Given the description of an element on the screen output the (x, y) to click on. 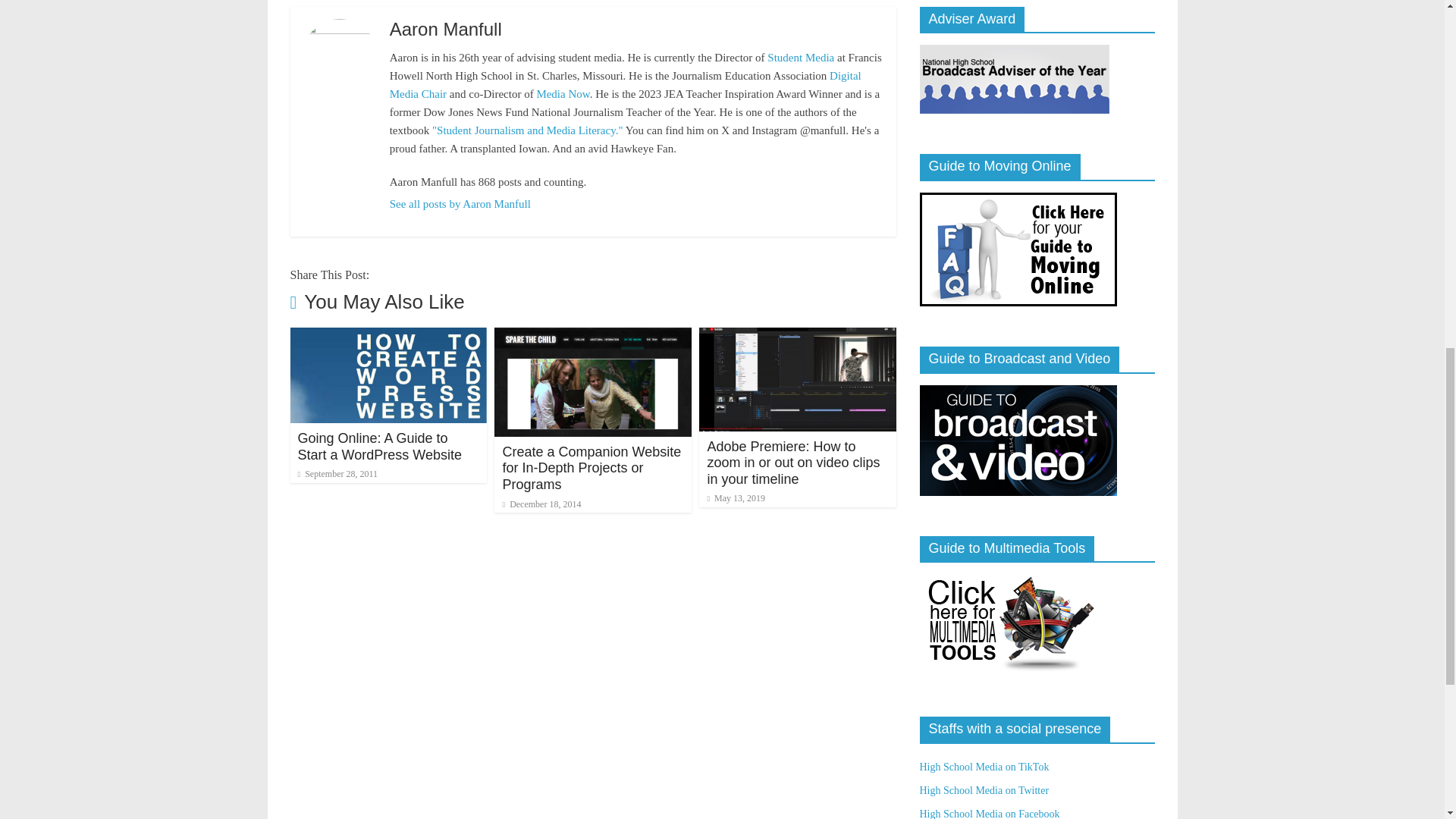
Going Online:  A Guide to Start a WordPress Website (387, 336)
1:14 am (337, 473)
Going Online:  A Guide to Start a WordPress Website (379, 446)
